Given the description of an element on the screen output the (x, y) to click on. 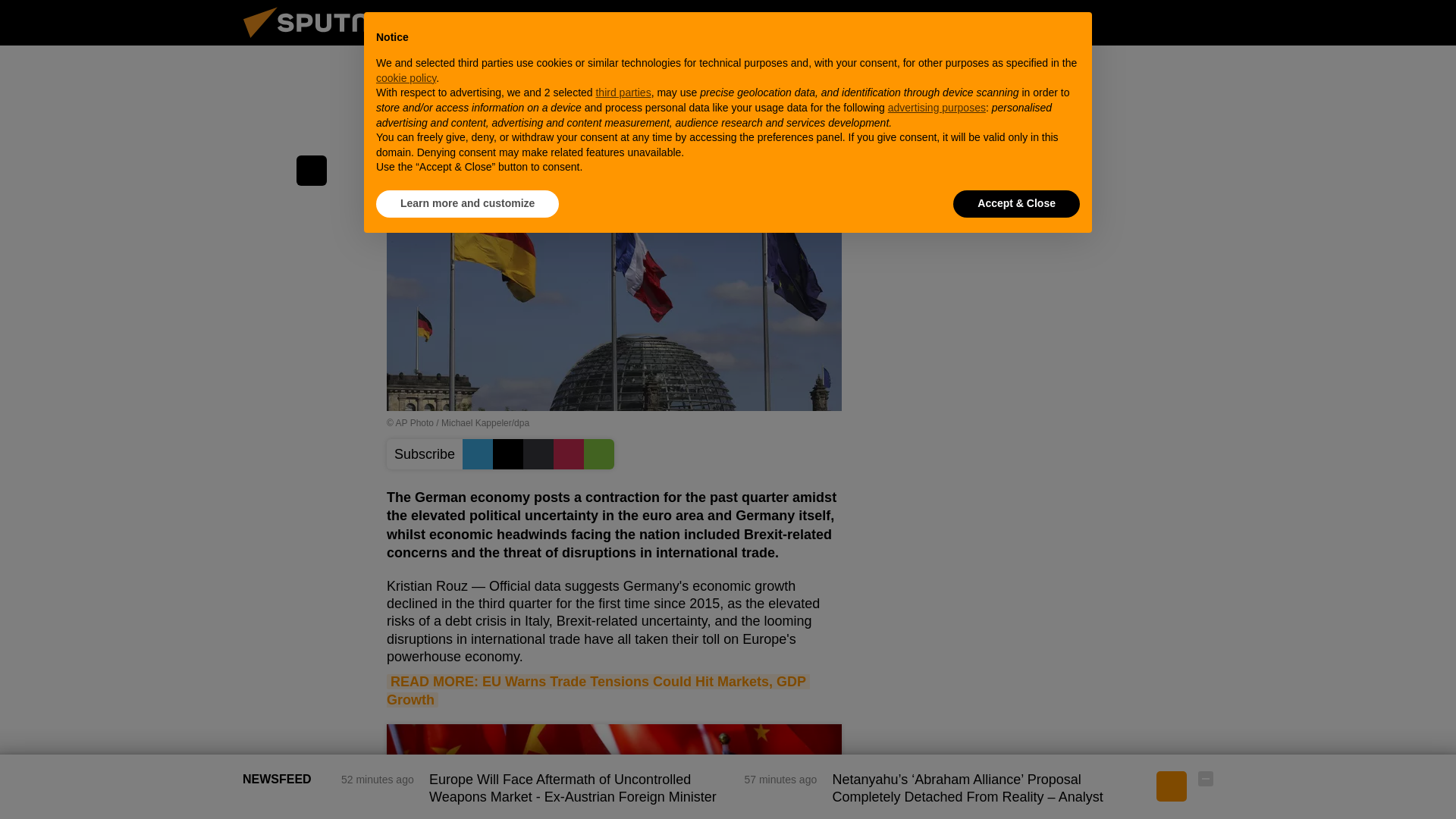
Authorization (1129, 22)
Chats (1206, 22)
Sputnik International (325, 41)
